Given the description of an element on the screen output the (x, y) to click on. 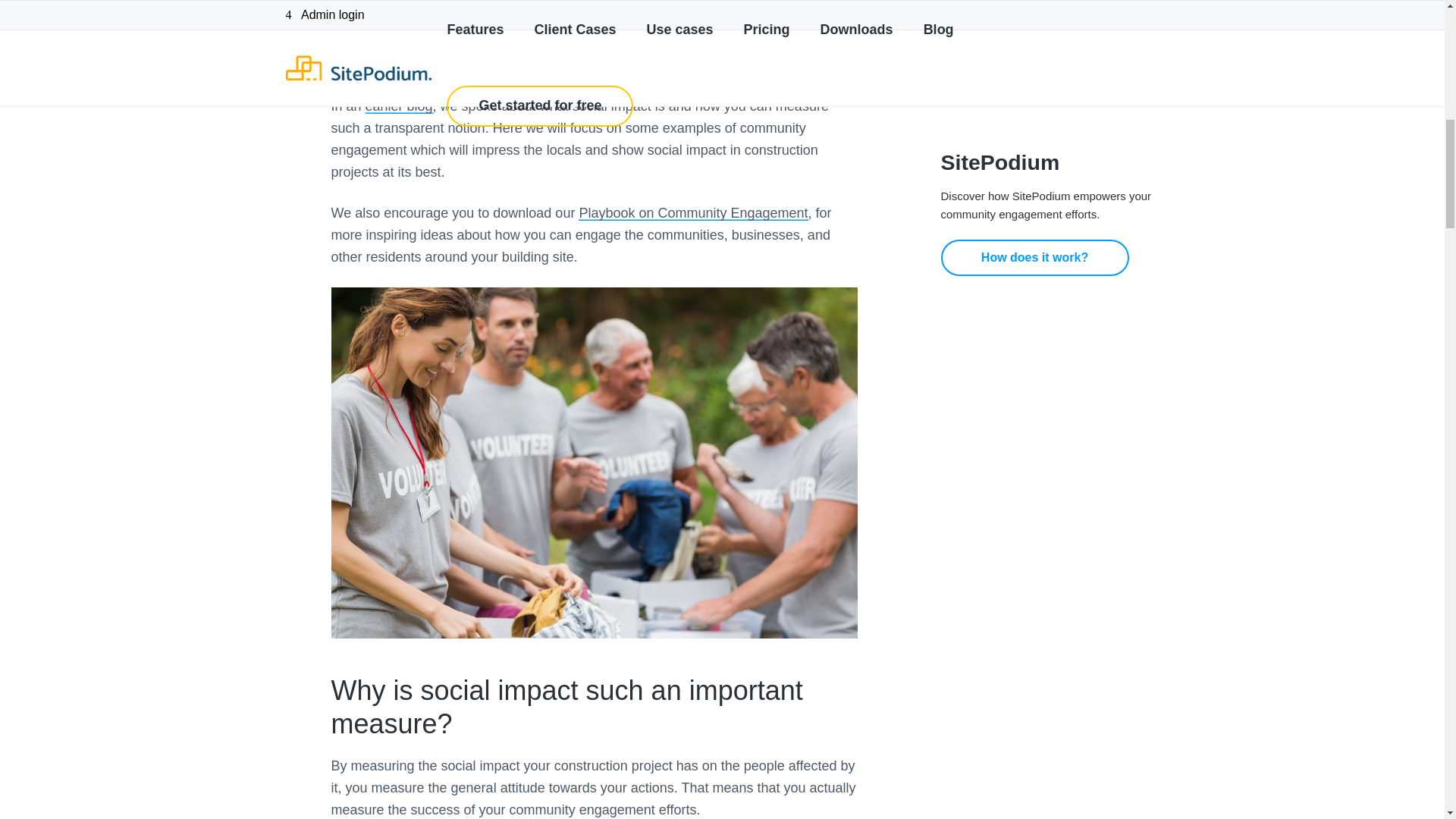
Playbook on Community Engagement (693, 212)
earlier blog (398, 105)
